Given the description of an element on the screen output the (x, y) to click on. 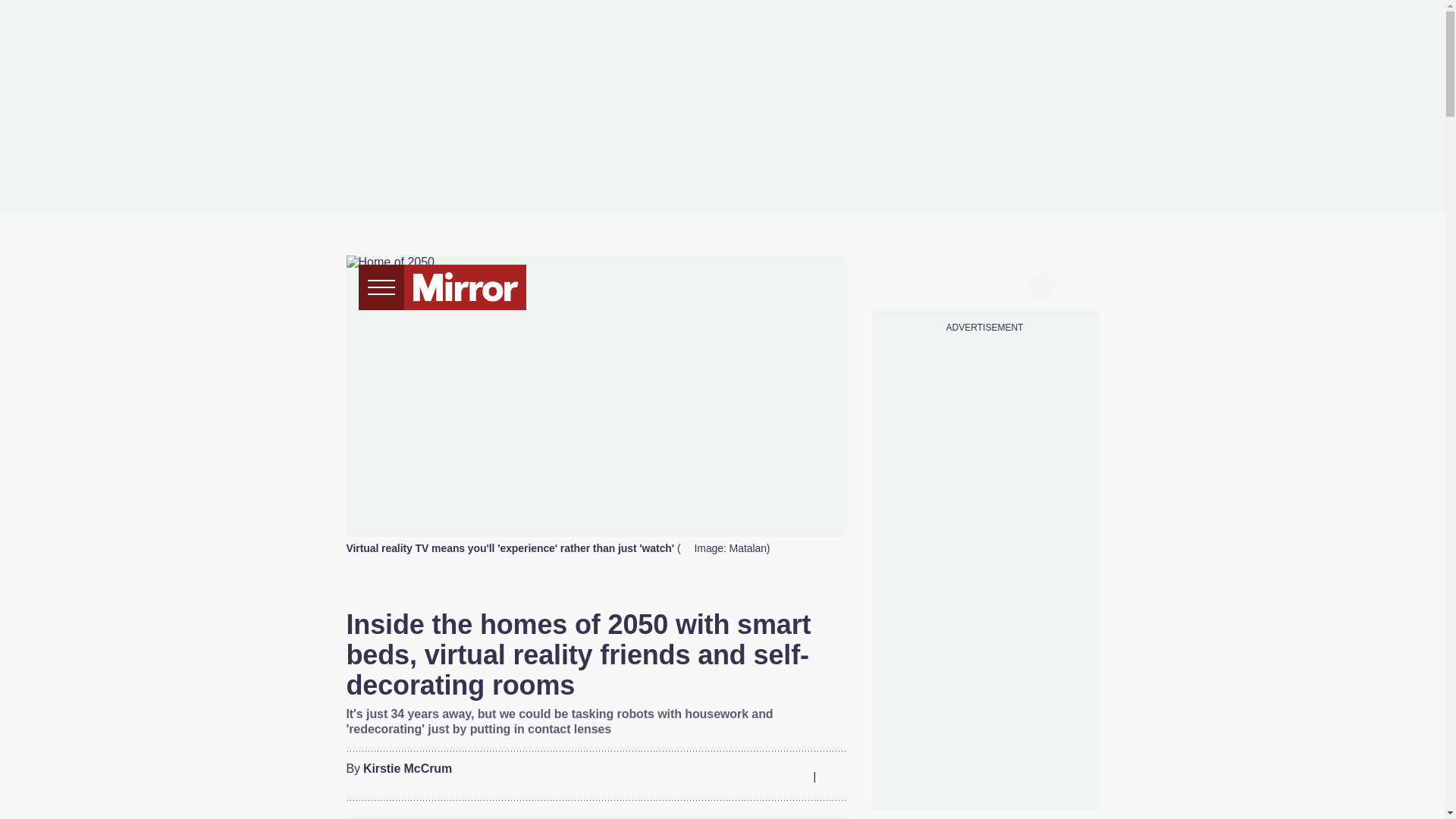
snapchat (1012, 285)
tiktok (955, 285)
Comments (834, 775)
instagram (984, 285)
Whatsapp (763, 775)
twitter (926, 285)
facebook (897, 285)
Twitter (733, 775)
Facebook (702, 775)
